Given the description of an element on the screen output the (x, y) to click on. 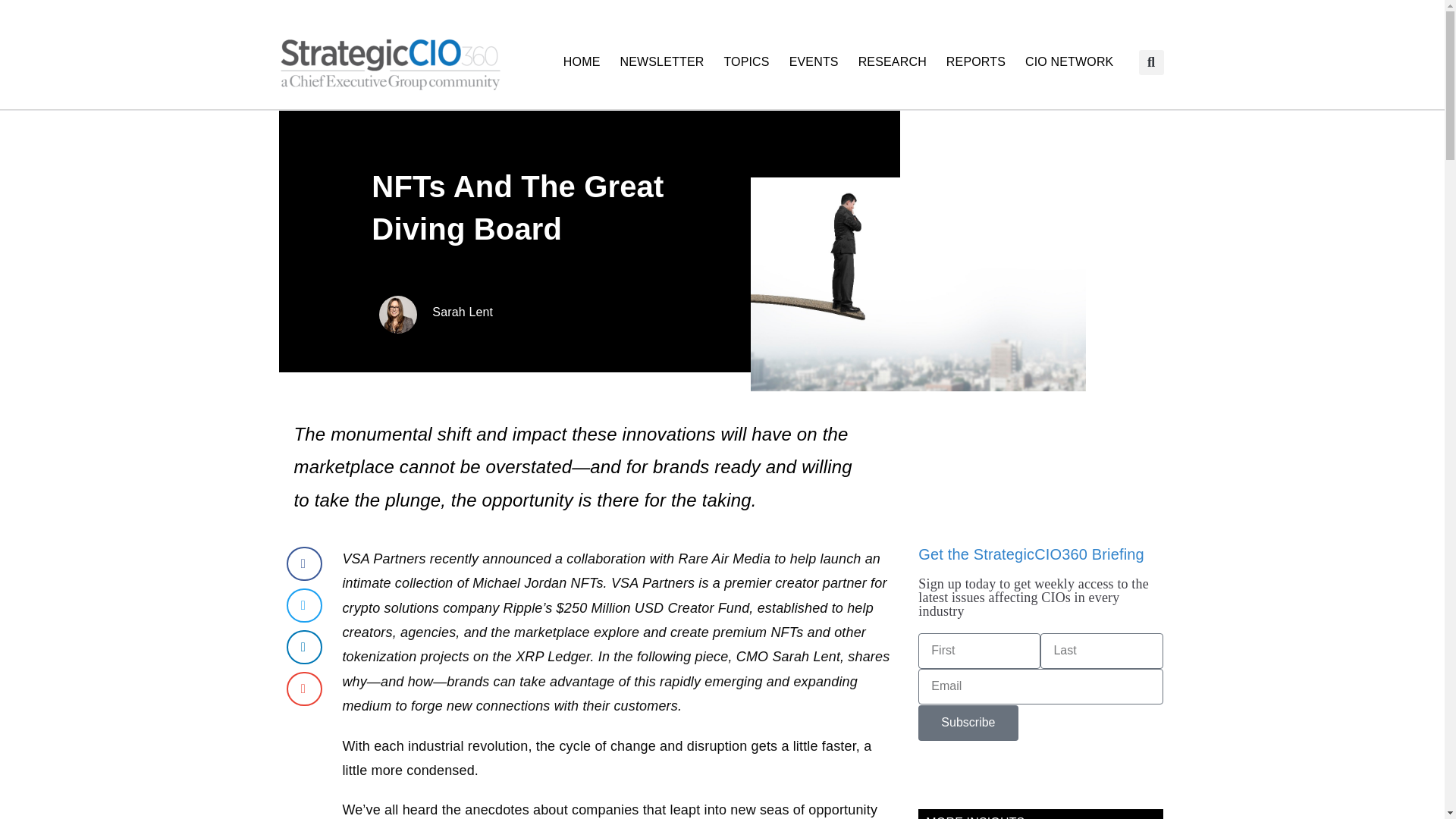
RESEARCH (892, 62)
NEWSLETTER (661, 62)
REPORTS (975, 62)
EVENTS (813, 62)
CIO NETWORK (1068, 62)
TOPICS (745, 62)
HOME (581, 62)
